Given the description of an element on the screen output the (x, y) to click on. 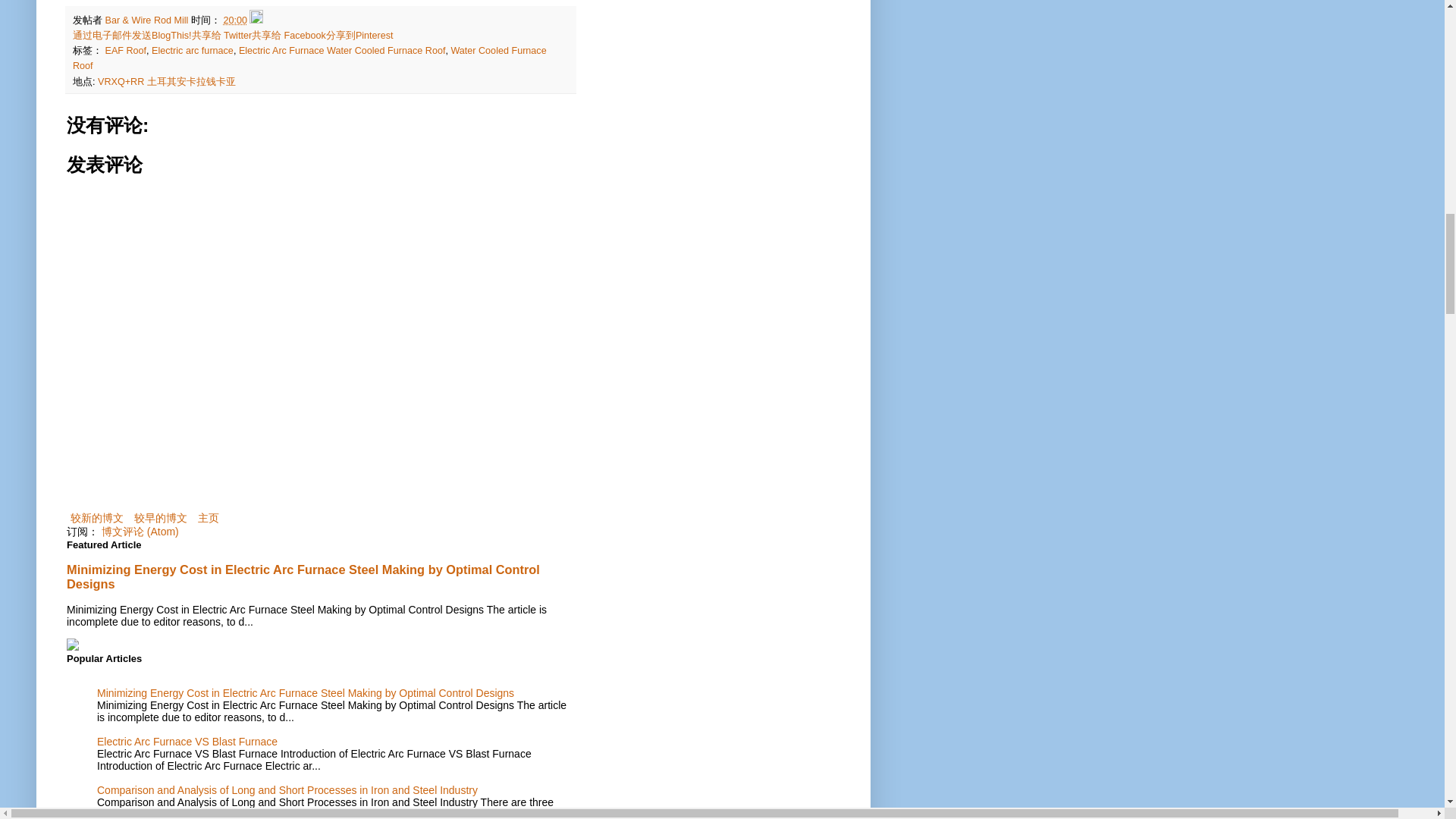
EAF Roof (125, 50)
BlogThis! (171, 35)
author profile (147, 20)
BlogThis! (171, 35)
Water Cooled Furnace Roof (309, 58)
permanent link (234, 20)
Electric Arc Furnace VS Blast Furnace (187, 741)
20:00 (234, 20)
Electric Arc Furnace Water Cooled Furnace Roof (341, 50)
Electric arc furnace (191, 50)
